Given the description of an element on the screen output the (x, y) to click on. 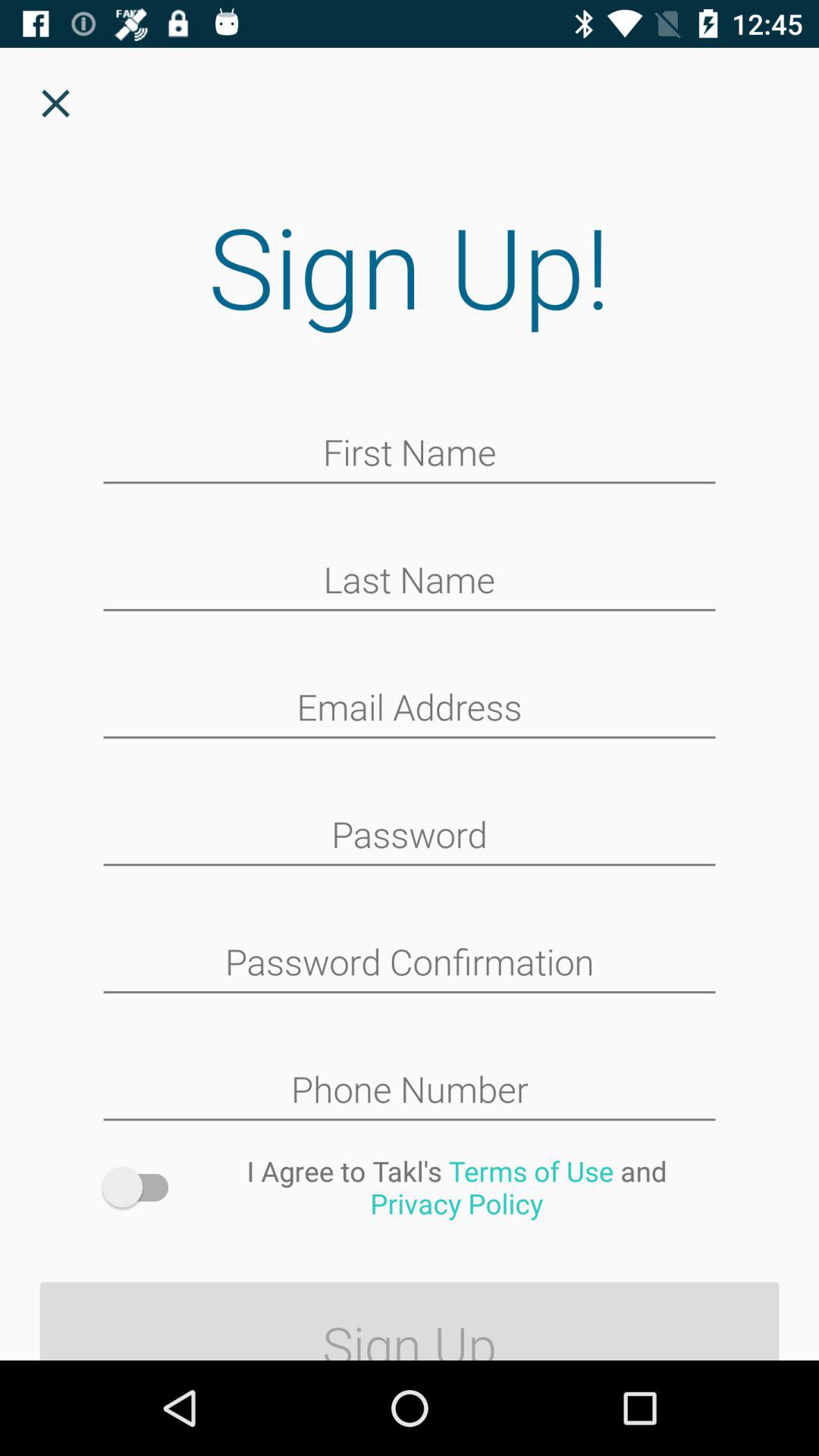
auto notification option (142, 1187)
